Given the description of an element on the screen output the (x, y) to click on. 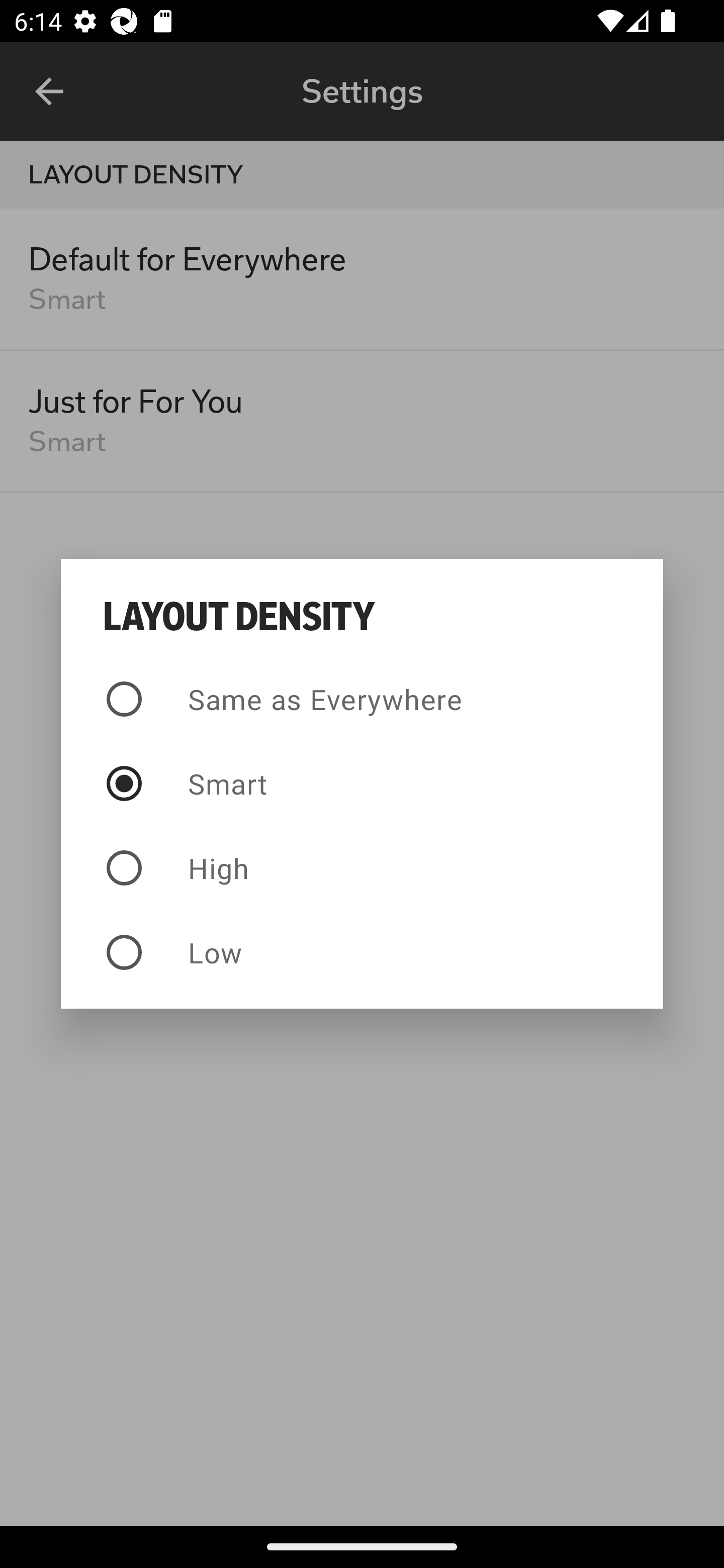
Same as Everywhere (361, 698)
Smart (361, 783)
High (361, 867)
Low (361, 951)
